Given the description of an element on the screen output the (x, y) to click on. 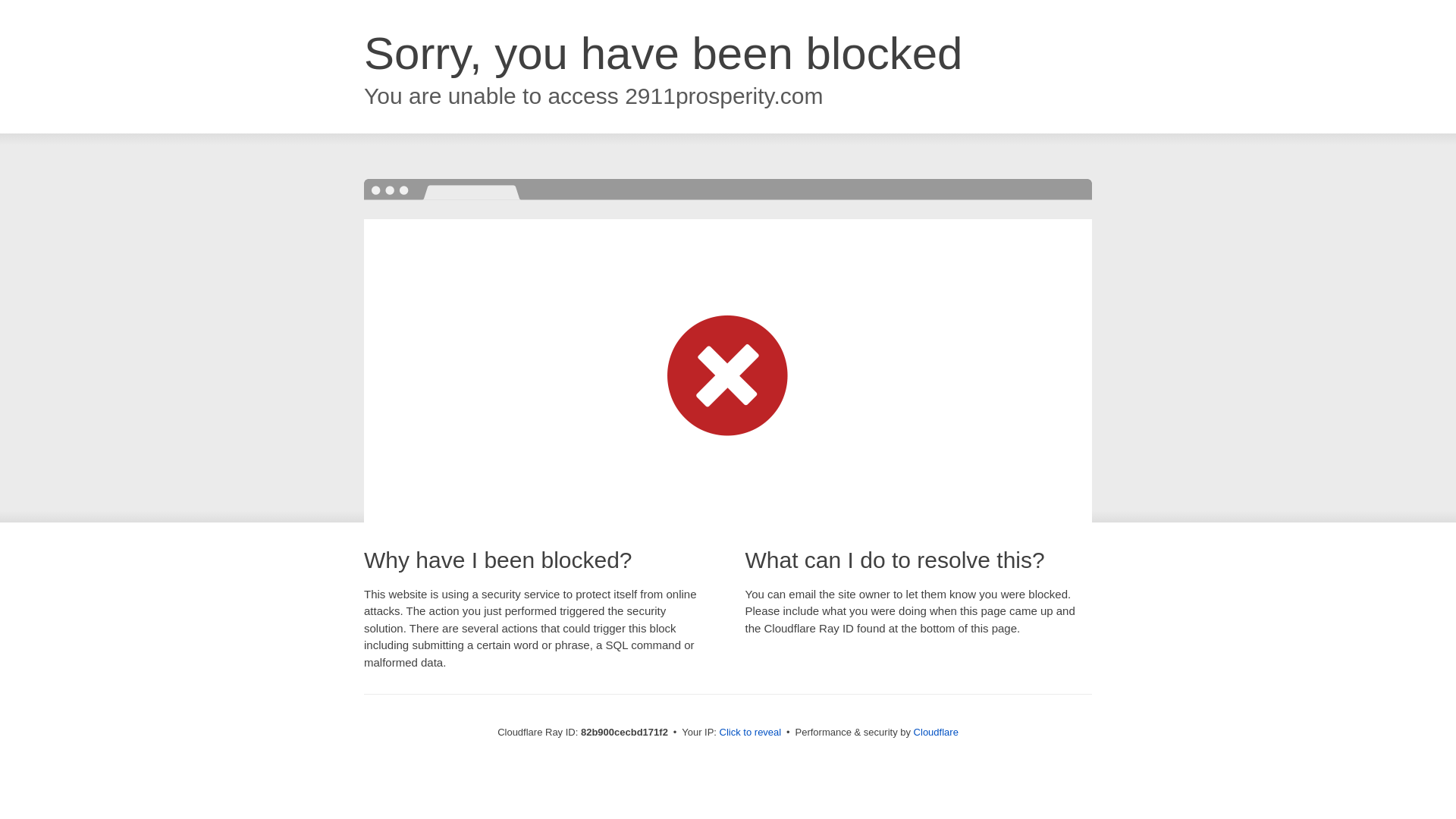
Click to reveal Element type: text (750, 732)
Cloudflare Element type: text (935, 731)
